Given the description of an element on the screen output the (x, y) to click on. 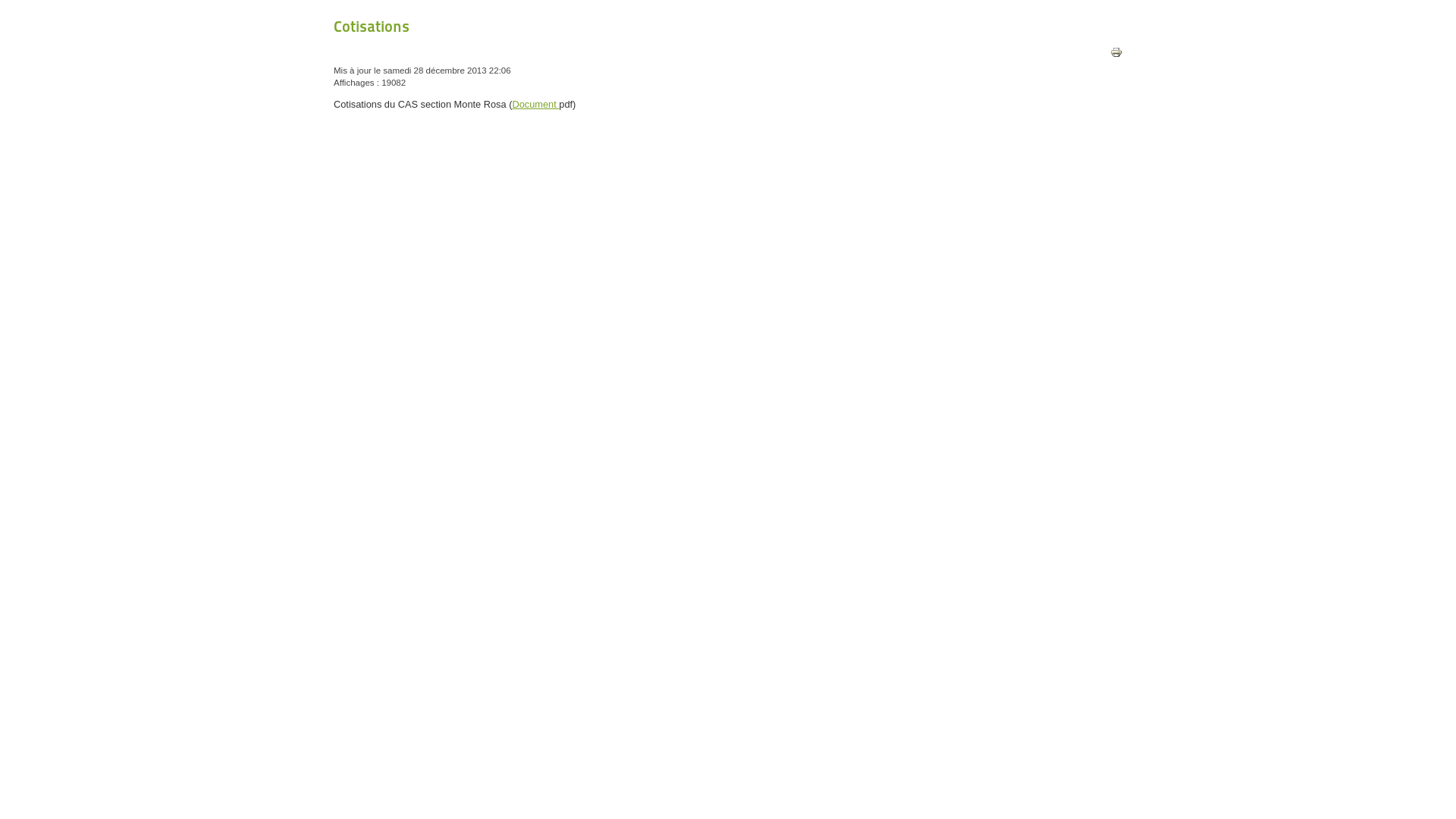
Document Element type: text (534, 103)
